Given the description of an element on the screen output the (x, y) to click on. 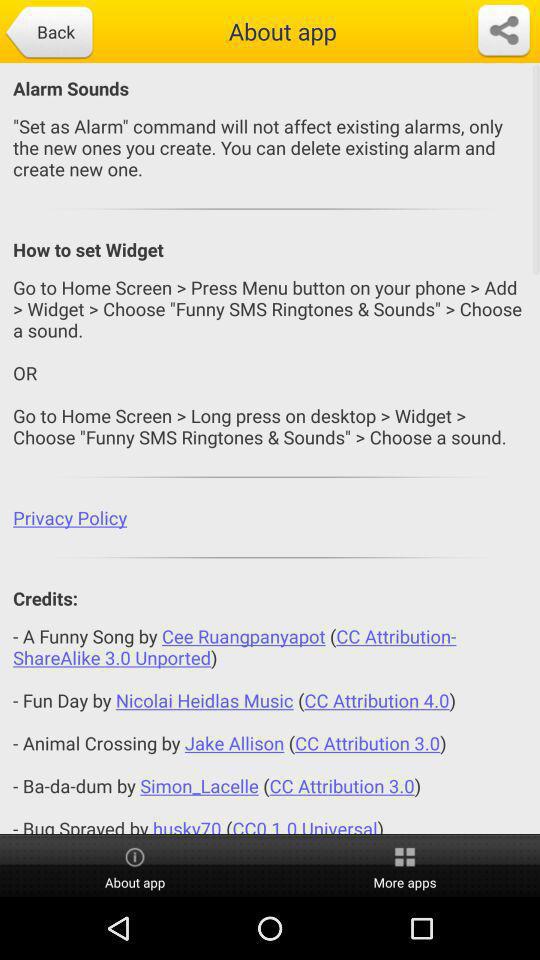
open the privacy policy app (269, 517)
